Given the description of an element on the screen output the (x, y) to click on. 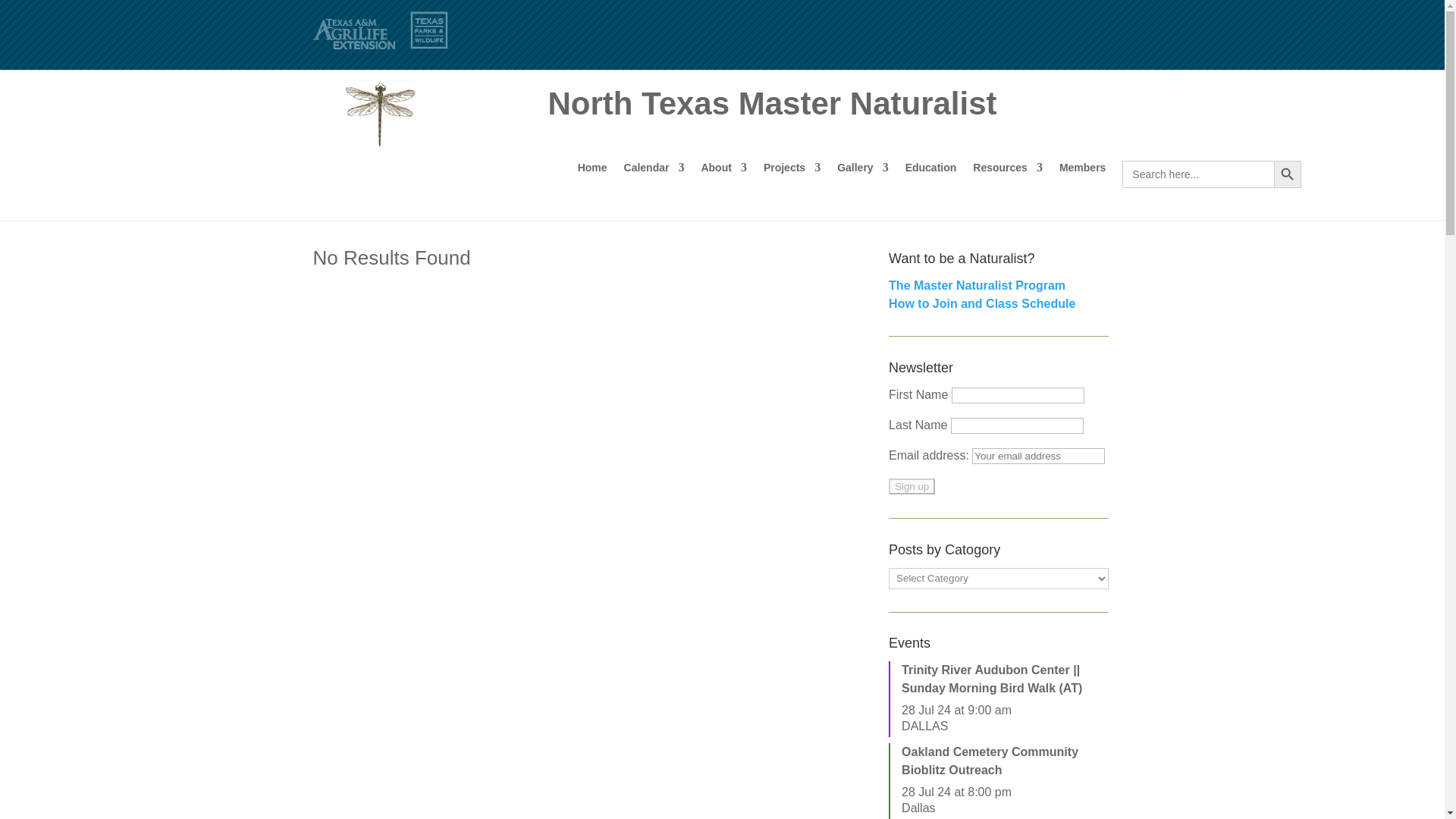
TPW 60 (427, 30)
Resources (1007, 174)
Search Button (1287, 174)
Projects (791, 174)
Gallery (862, 174)
About (722, 174)
AgriLife Extension 60 (353, 33)
Home (592, 174)
Calendar (654, 174)
Sign up (911, 486)
Dragonfly150 (379, 110)
Education (930, 174)
Members (1082, 174)
